Given the description of an element on the screen output the (x, y) to click on. 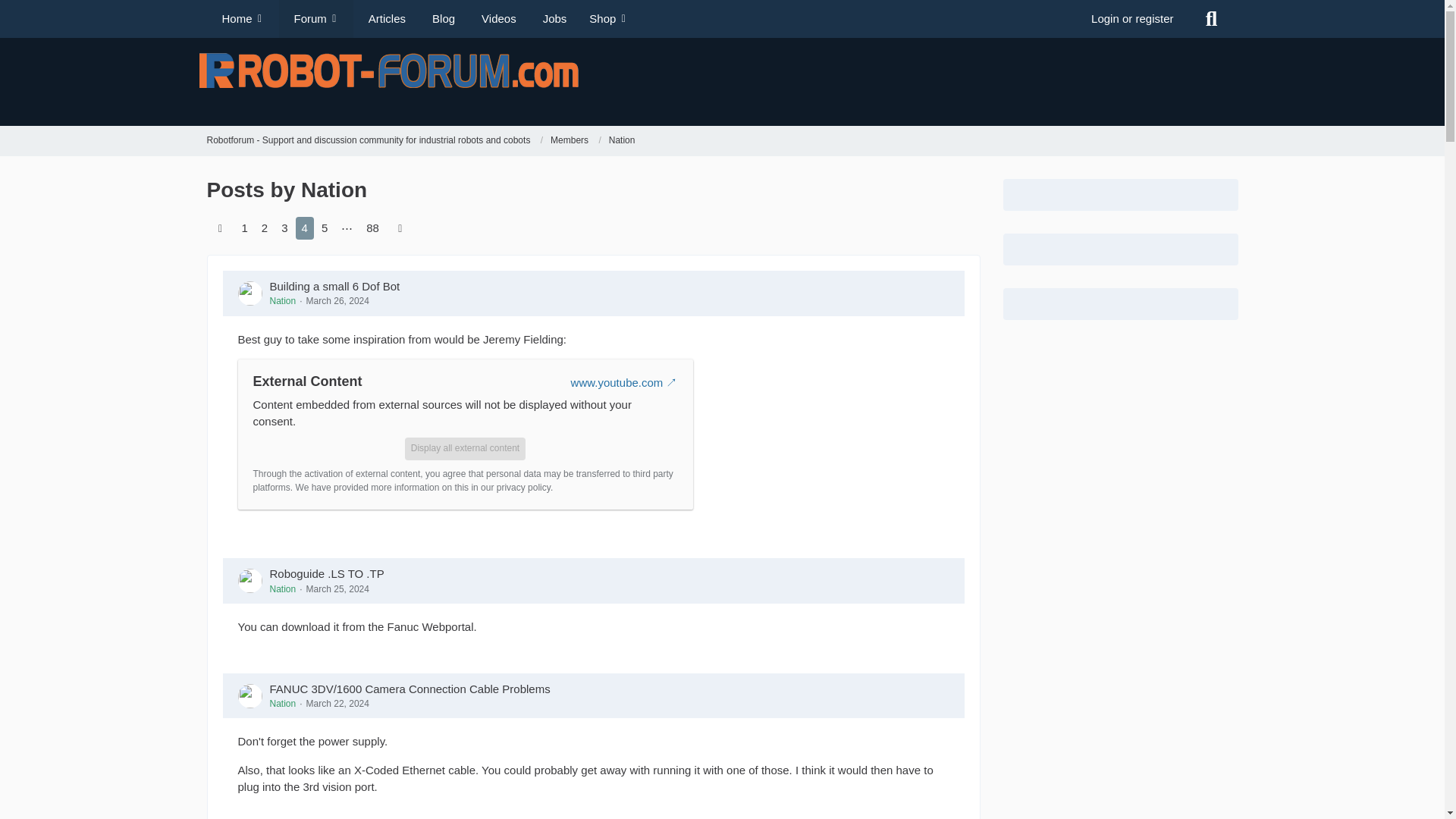
Articles (384, 18)
Login or register (1132, 18)
Members (575, 141)
Videos (496, 18)
Jobs (552, 18)
88 (372, 228)
Members (569, 141)
Blog (440, 18)
Nation (621, 141)
